Given the description of an element on the screen output the (x, y) to click on. 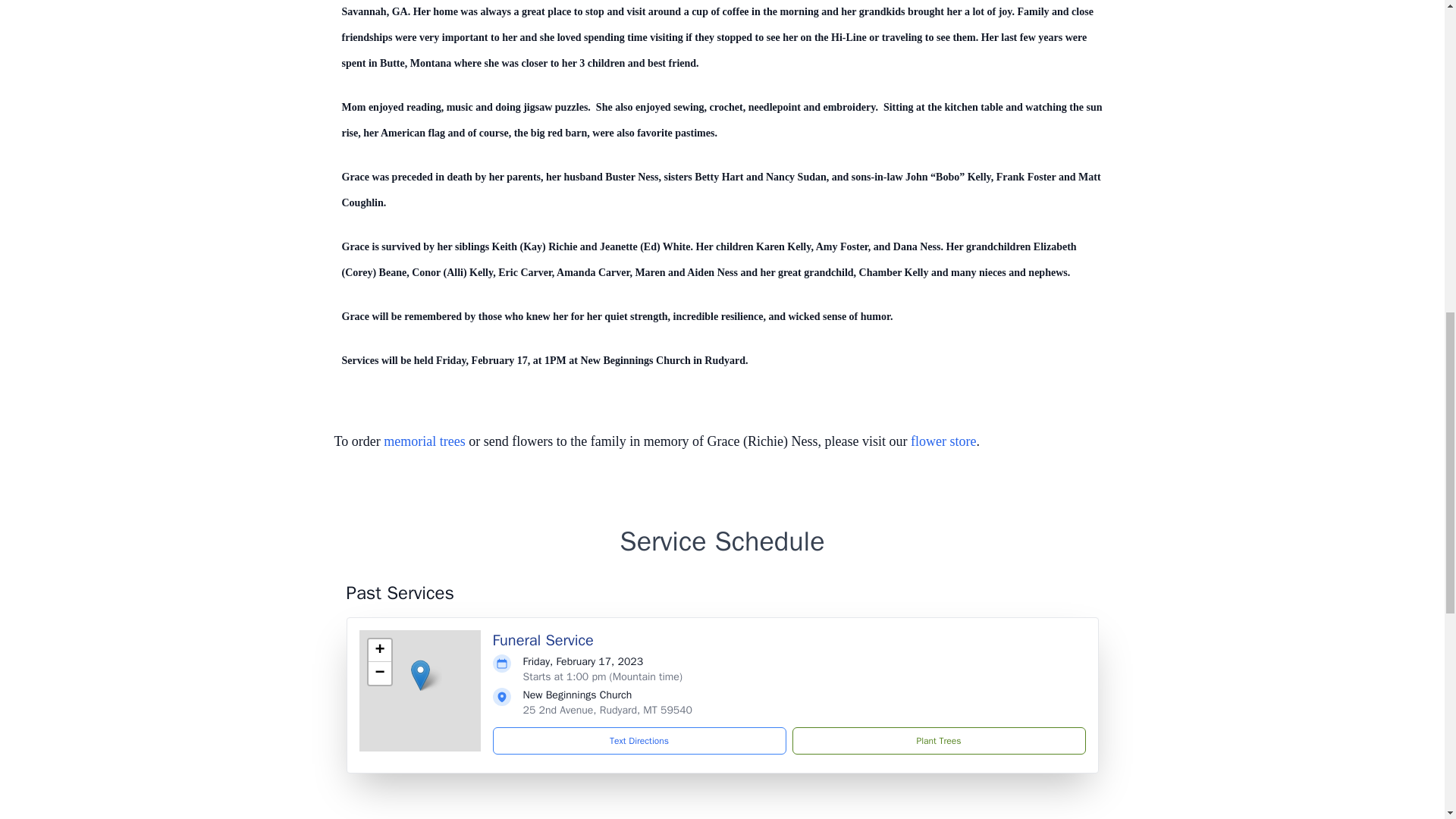
memorial trees (424, 441)
Zoom in (379, 650)
Text Directions (639, 740)
Zoom out (379, 672)
flower store (943, 441)
25 2nd Avenue, Rudyard, MT 59540 (607, 709)
Plant Trees (938, 740)
